Given the description of an element on the screen output the (x, y) to click on. 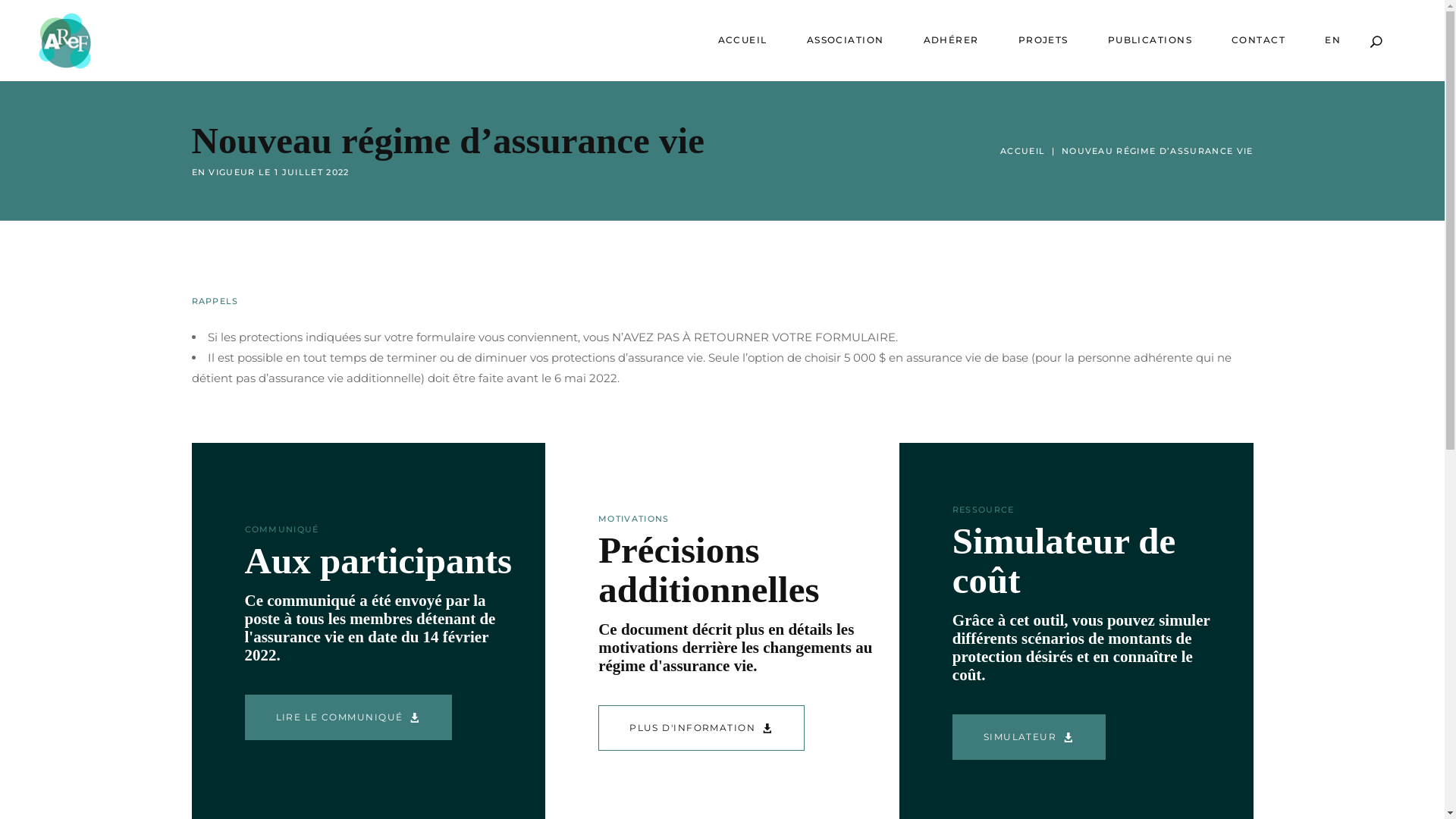
ASSOCIATION Element type: text (845, 40)
SIMULATEUR Element type: text (1028, 736)
PROJETS Element type: text (1043, 40)
ACCUEIL Element type: text (1022, 151)
EN Element type: text (1332, 40)
ACCUEIL Element type: text (742, 40)
CONTACT Element type: text (1258, 40)
PLUS D'INFORMATION Element type: text (701, 727)
PUBLICATIONS Element type: text (1149, 40)
